Given the description of an element on the screen output the (x, y) to click on. 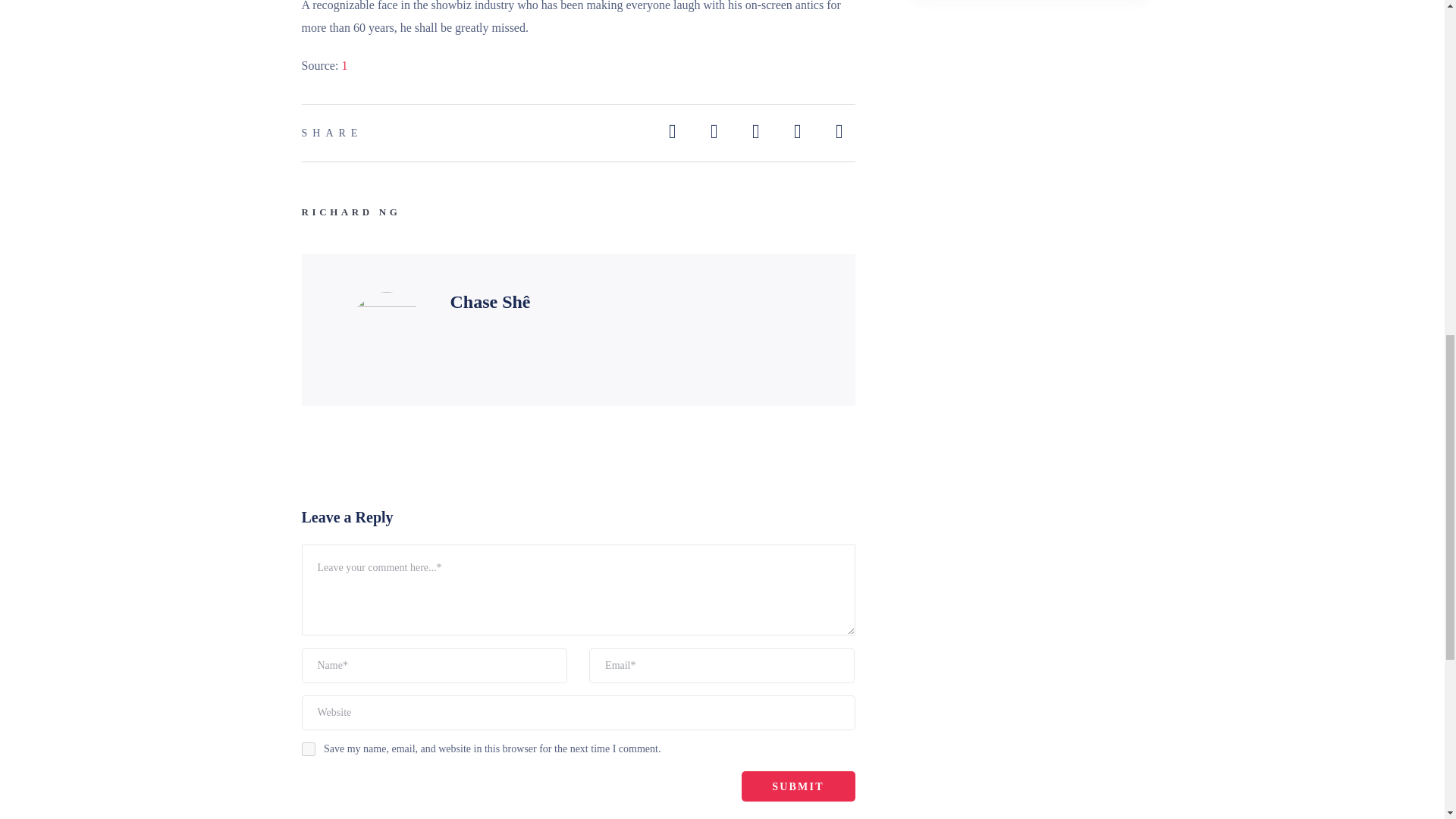
Submit (798, 786)
Submit (798, 786)
RICHARD NG (351, 212)
yes (308, 748)
